Given the description of an element on the screen output the (x, y) to click on. 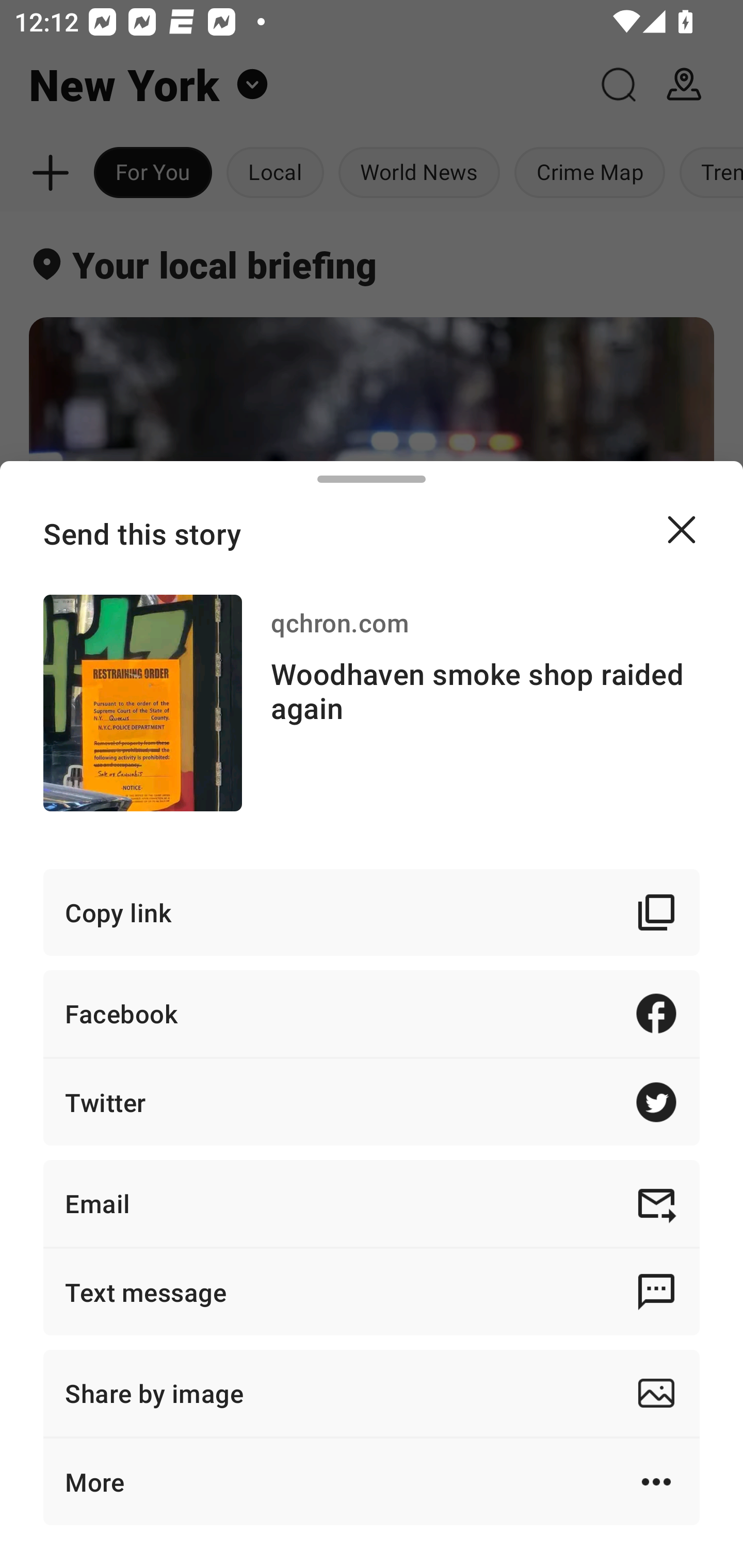
Copy link (371, 912)
Facebook (371, 1013)
Twitter (371, 1102)
Email (371, 1203)
Text message (371, 1291)
Share by image (371, 1393)
More (371, 1481)
